Given the description of an element on the screen output the (x, y) to click on. 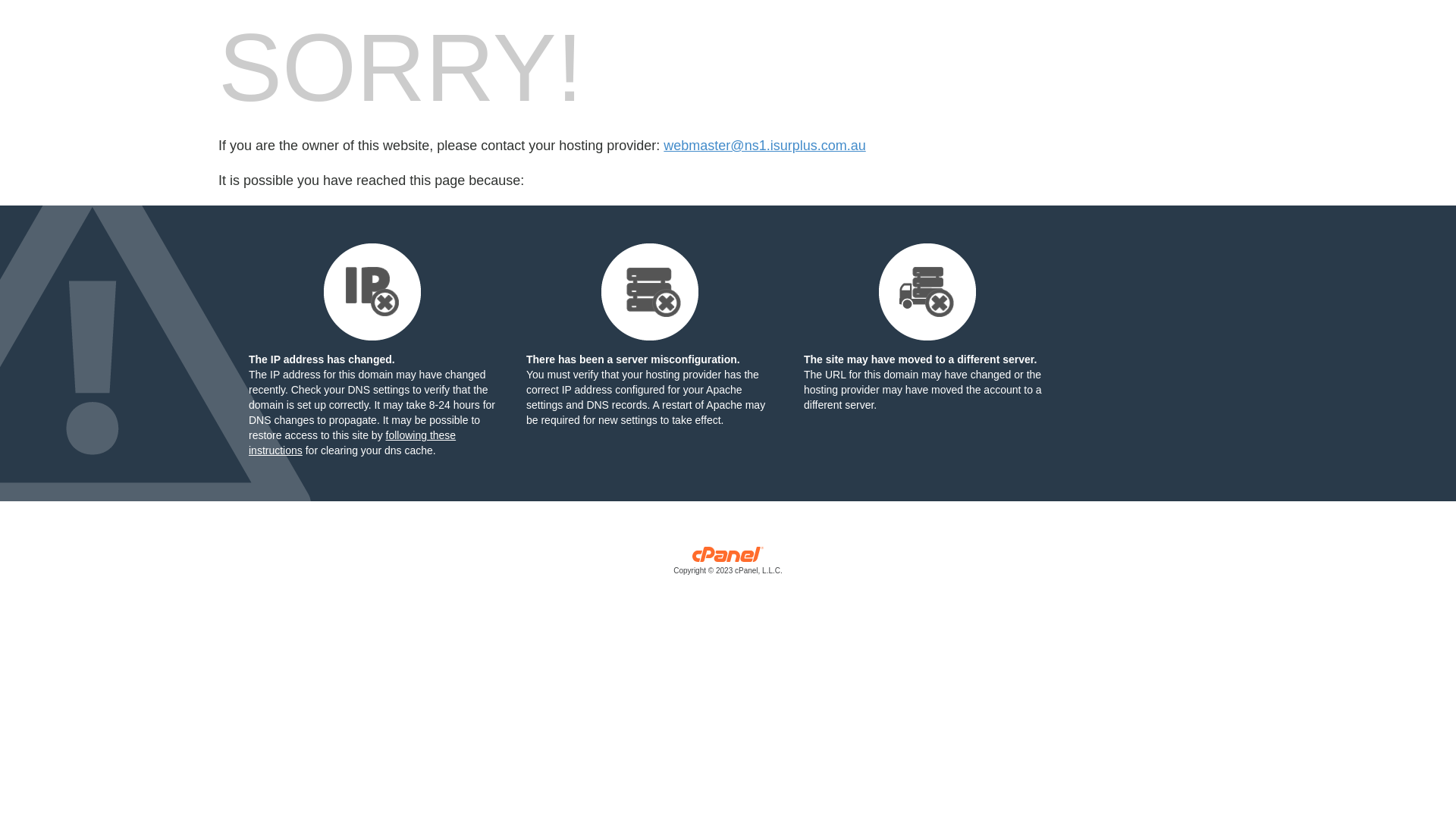
following these instructions Element type: text (351, 442)
webmaster@ns1.isurplus.com.au Element type: text (764, 145)
